Given the description of an element on the screen output the (x, y) to click on. 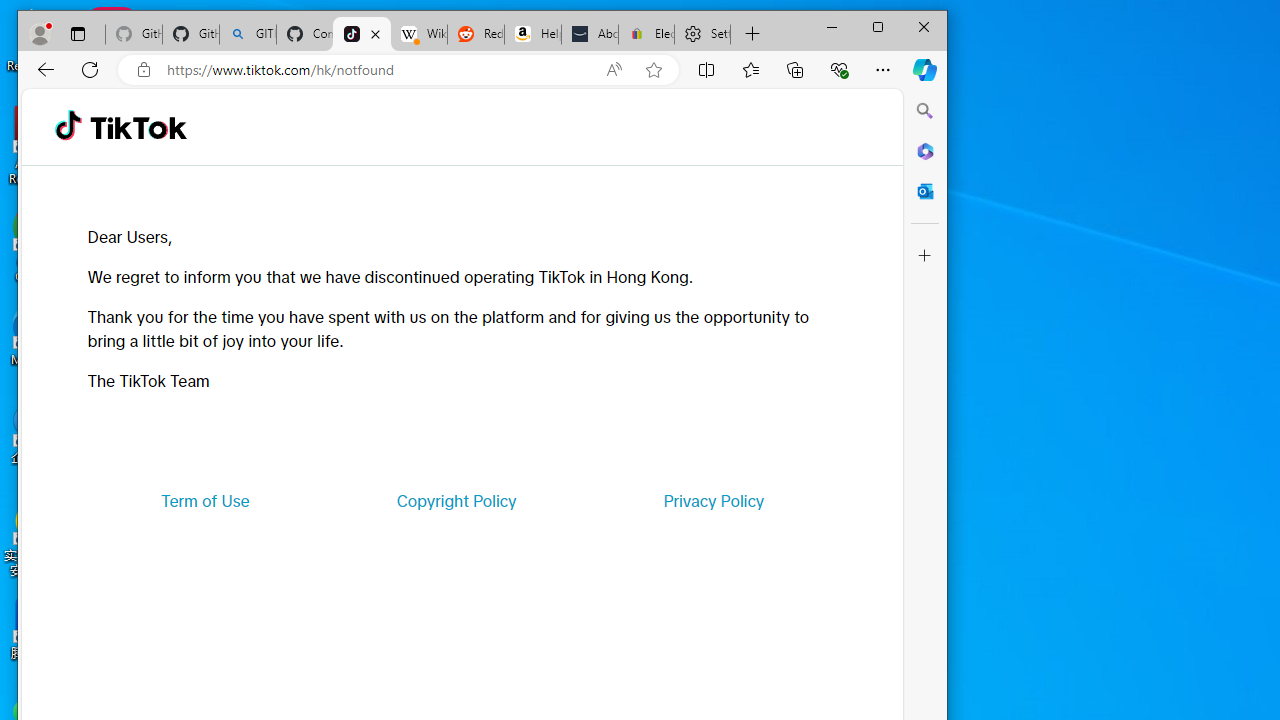
TikTok (362, 34)
Copyright Policy (456, 500)
TikTok (138, 126)
